Given the description of an element on the screen output the (x, y) to click on. 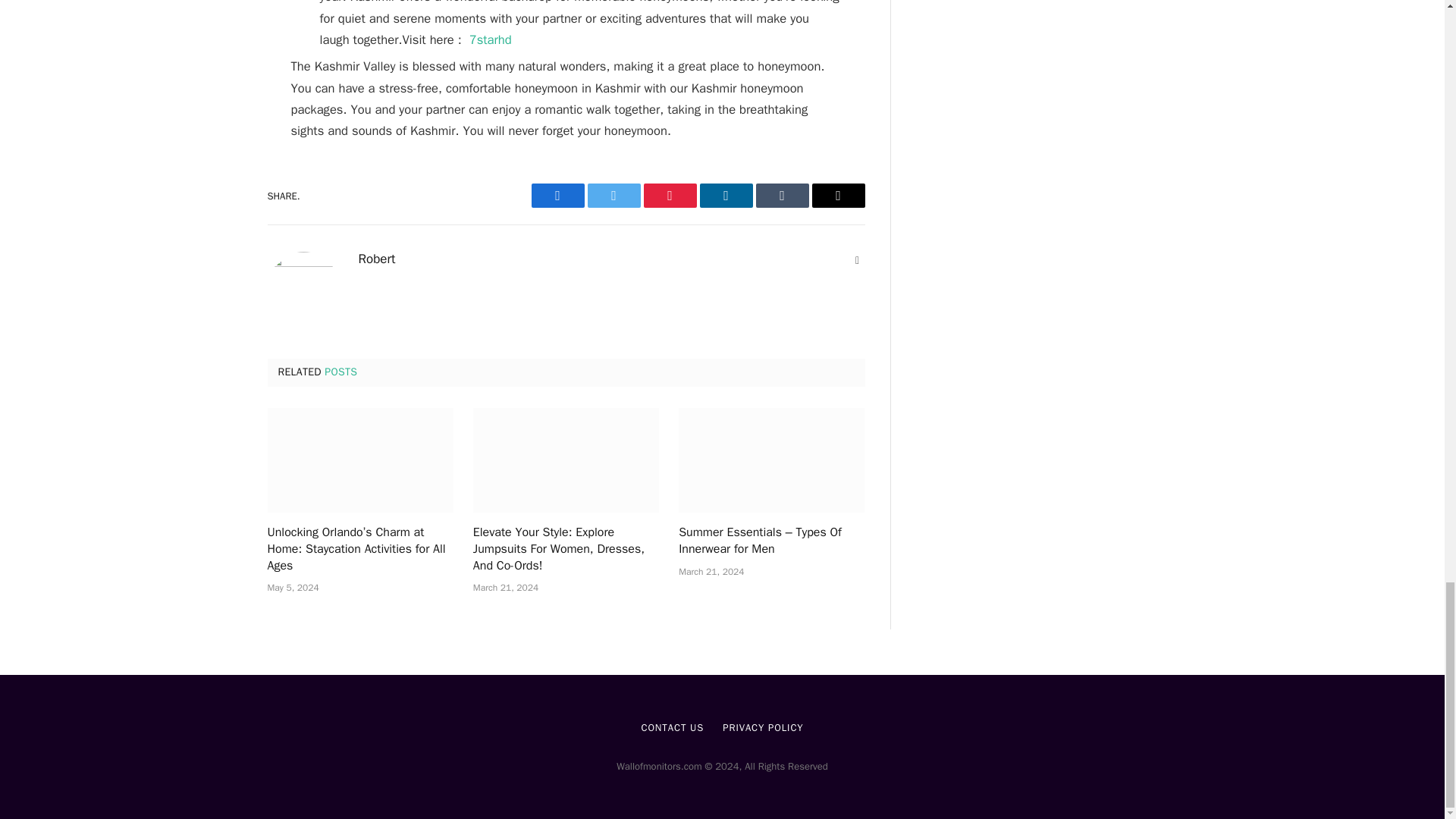
Facebook (557, 195)
7starhd (490, 39)
